Given the description of an element on the screen output the (x, y) to click on. 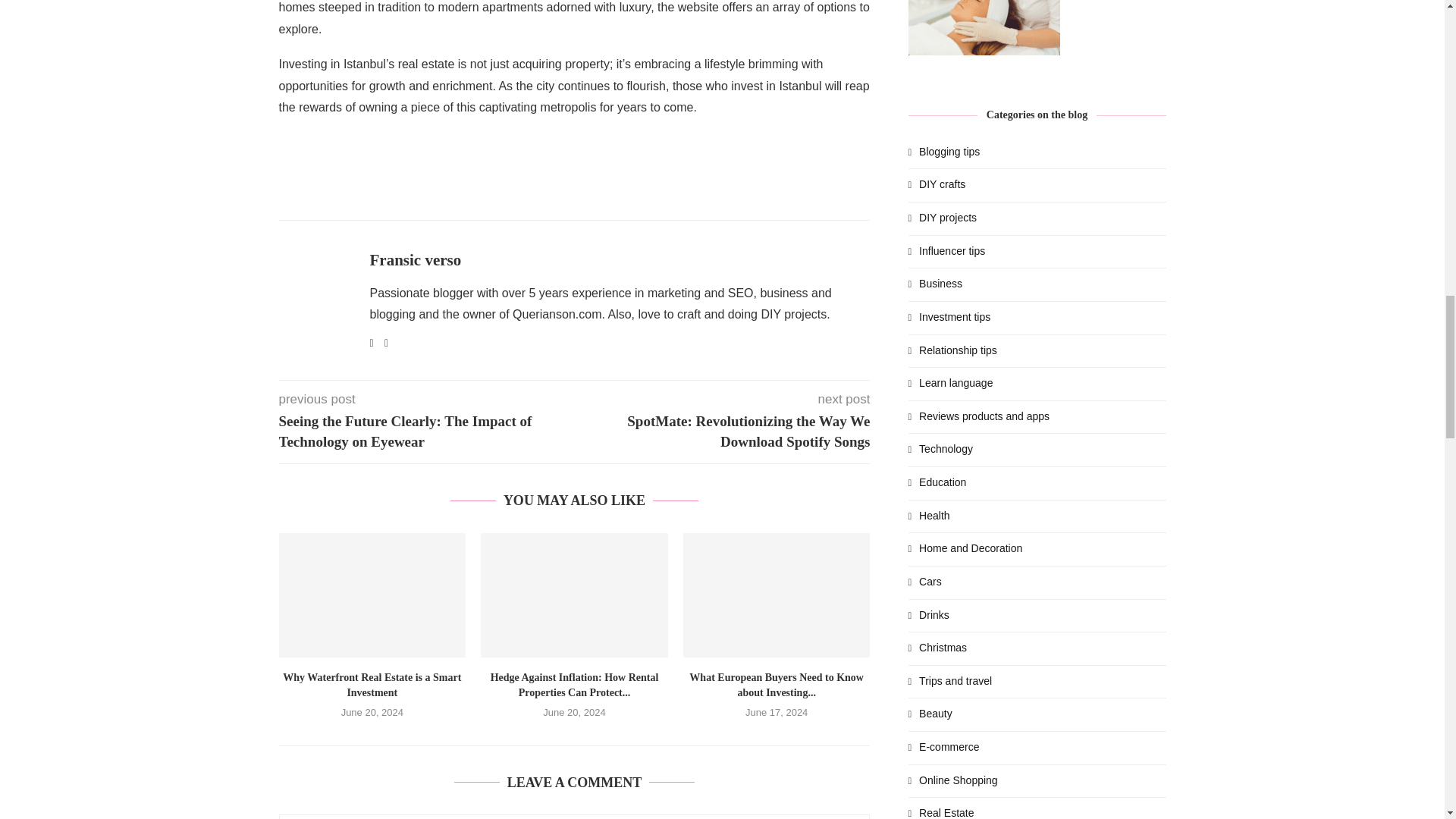
Author Fransic verso (415, 260)
Why Waterfront Real Estate is a Smart Investment (372, 595)
